Given the description of an element on the screen output the (x, y) to click on. 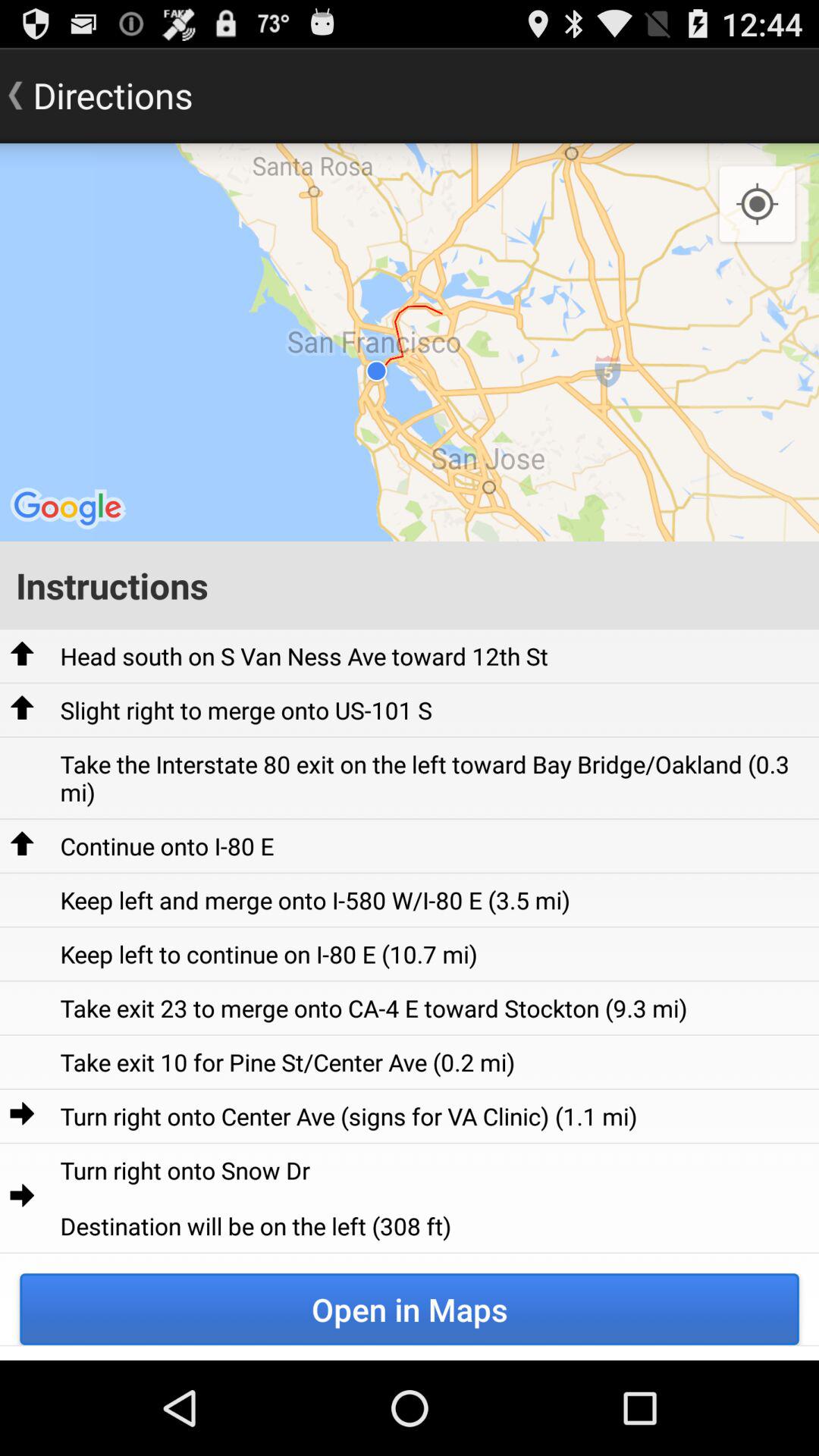
press app to the right of up app (246, 709)
